Given the description of an element on the screen output the (x, y) to click on. 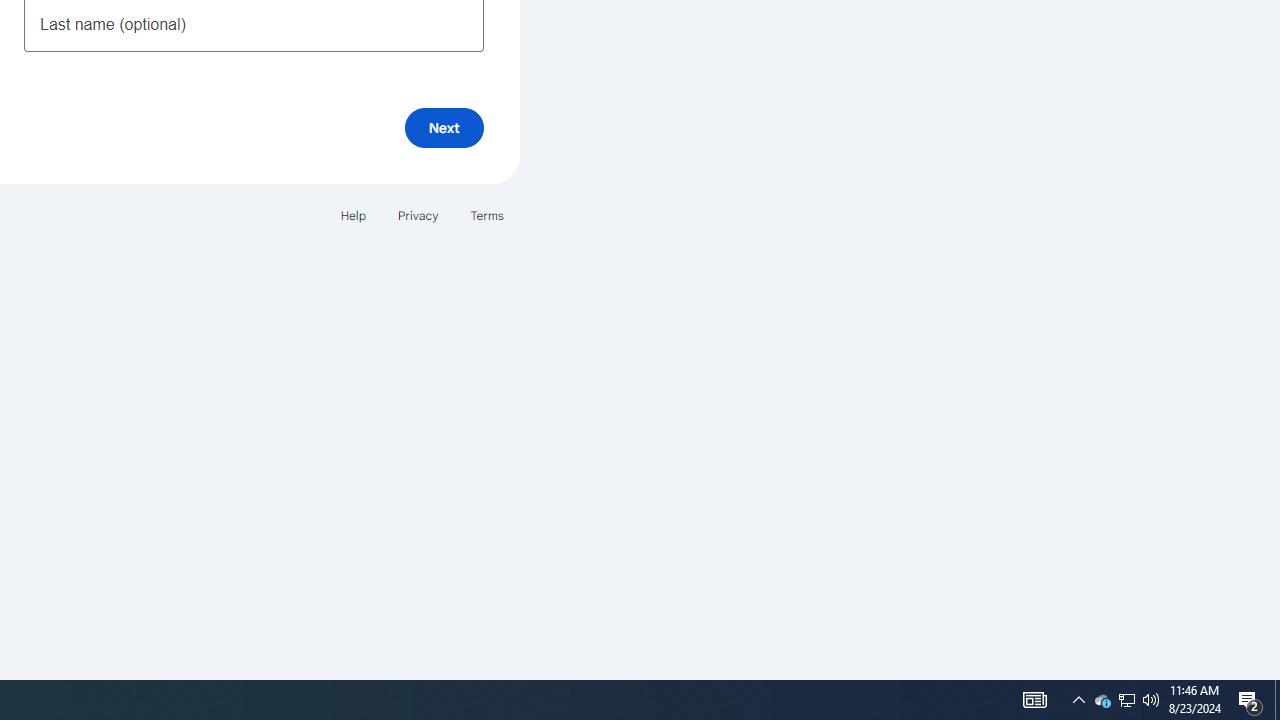
Next (443, 127)
Privacy (417, 214)
Help (352, 214)
Terms (486, 214)
